Given the description of an element on the screen output the (x, y) to click on. 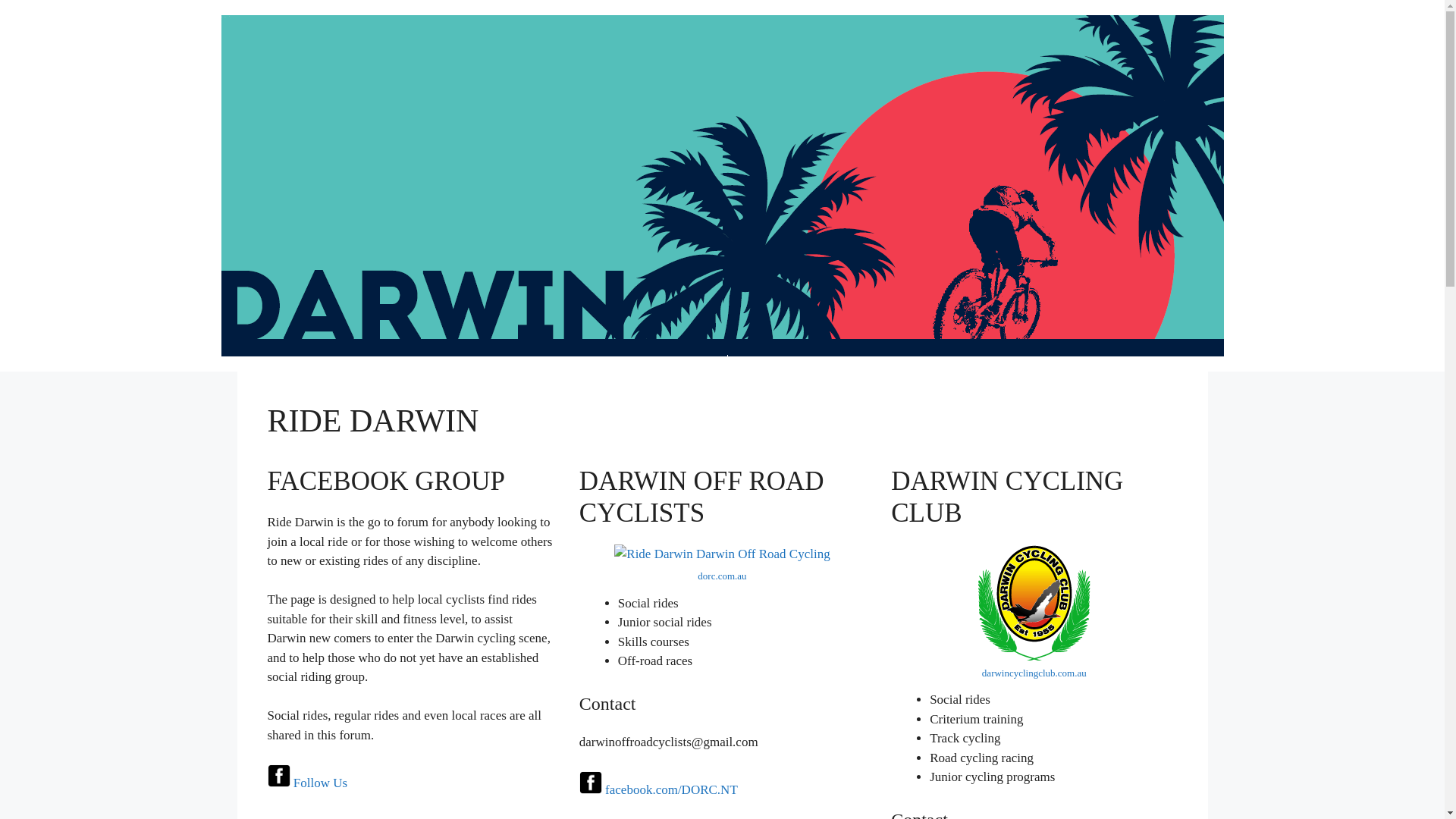
Follow Us Element type: text (320, 782)
facebook.com/DORC.NT Element type: text (671, 789)
dorc.com.au Element type: text (721, 575)
darwincyclingclub.com.au Element type: text (1034, 672)
